Given the description of an element on the screen output the (x, y) to click on. 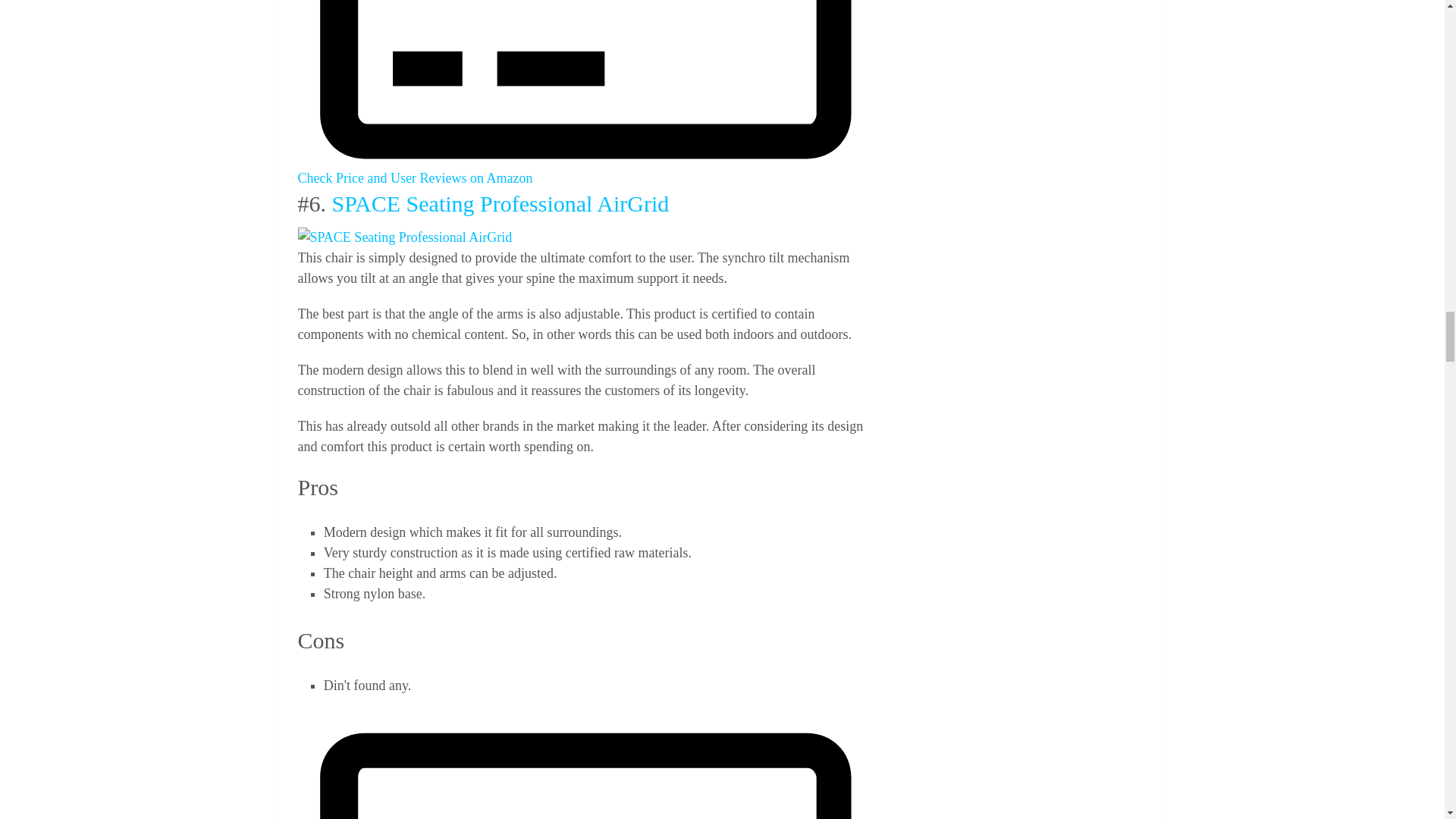
SPACE Seating Professional AirGrid Chair (404, 237)
